Given the description of an element on the screen output the (x, y) to click on. 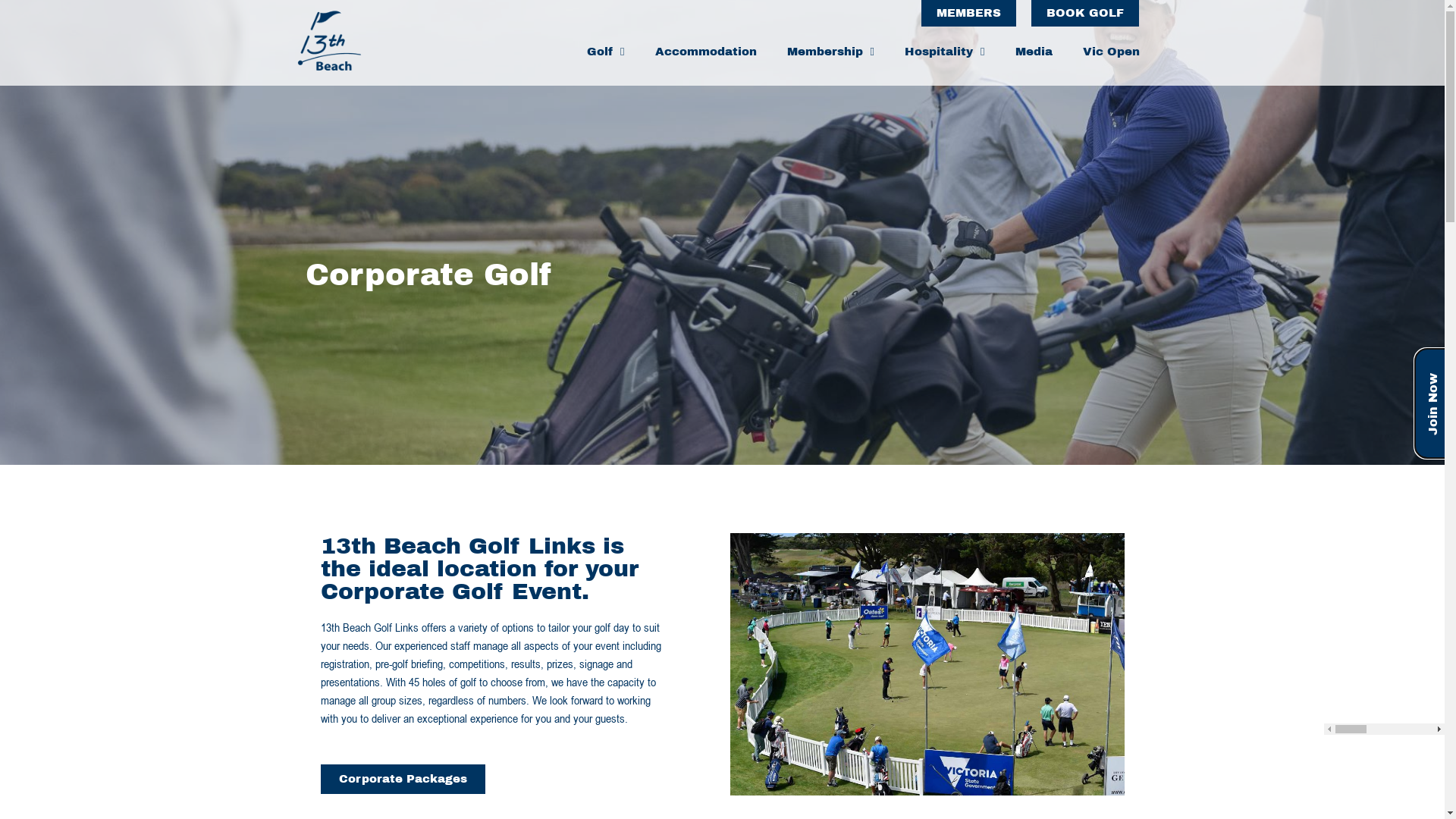
Accommodation Element type: text (705, 51)
Hospitality Element type: text (944, 51)
MEMBERS Element type: text (968, 13)
Corporate Packages Element type: text (402, 778)
Media Element type: text (1032, 51)
BOOK GOLF Element type: text (1085, 13)
Vic Open Element type: text (1110, 51)
Membership Element type: text (830, 51)
Golf Element type: text (605, 51)
